Given the description of an element on the screen output the (x, y) to click on. 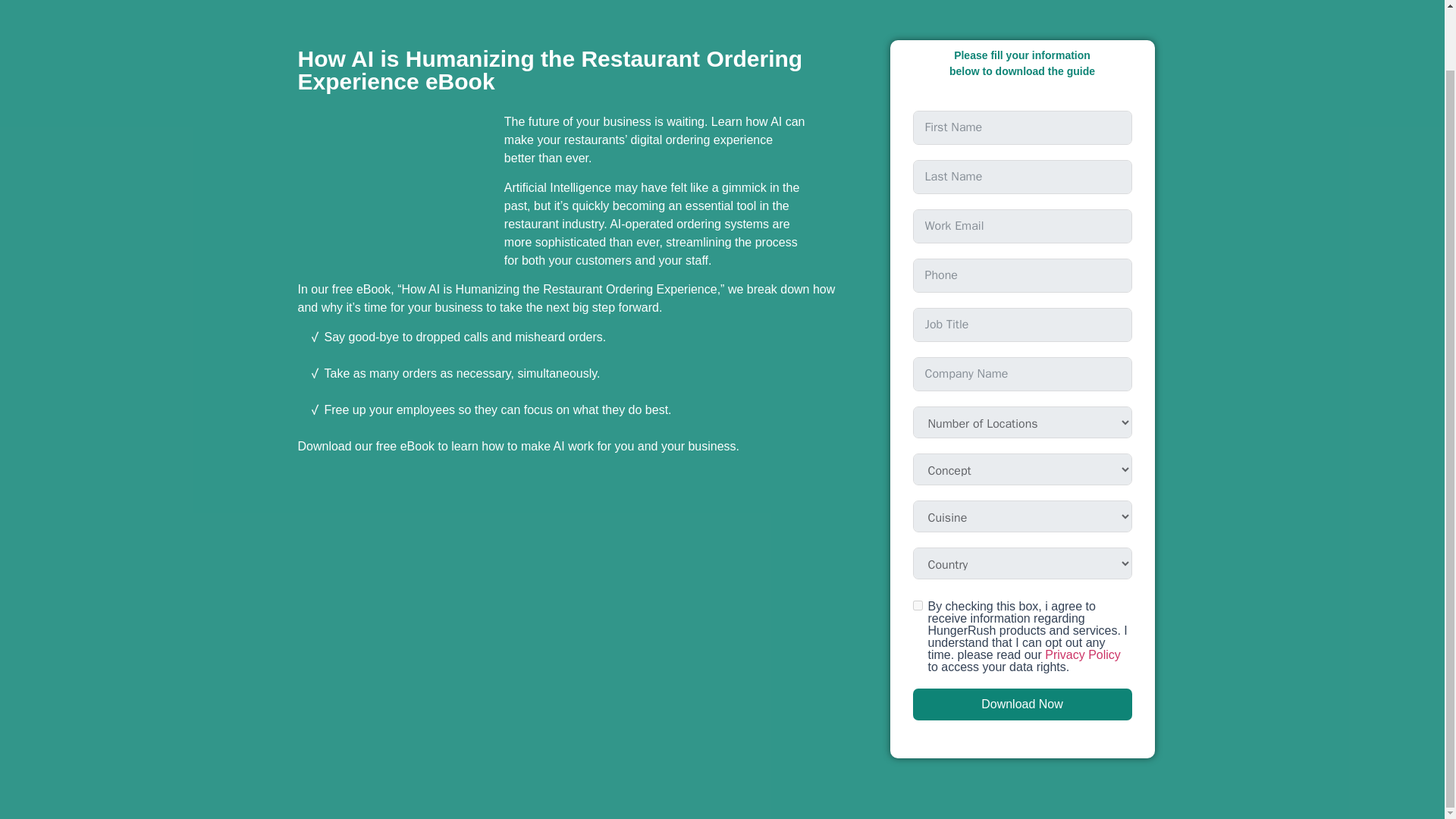
Download Now (1022, 704)
Privacy Policy (1083, 654)
on (917, 605)
